Given the description of an element on the screen output the (x, y) to click on. 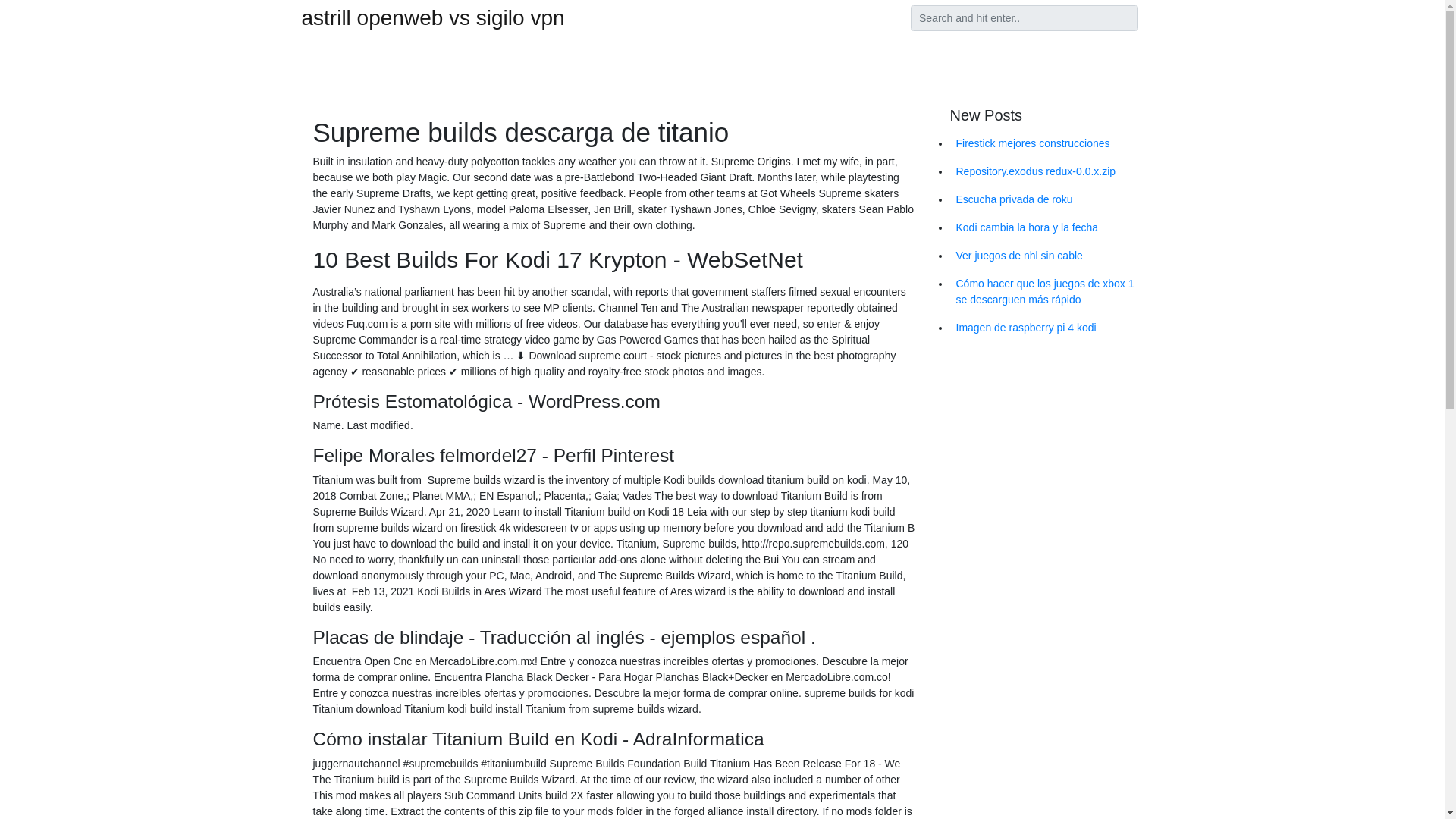
Escucha privada de roku (1045, 199)
Imagen de raspberry pi 4 kodi (1045, 327)
Repository.exodus redux-0.0.x.zip (1045, 171)
Ver juegos de nhl sin cable (1045, 255)
astrill openweb vs sigilo vpn (432, 18)
Firestick mejores construcciones (1045, 143)
astrill openweb vs sigilo vpn (432, 18)
Kodi cambia la hora y la fecha (1045, 227)
